Given the description of an element on the screen output the (x, y) to click on. 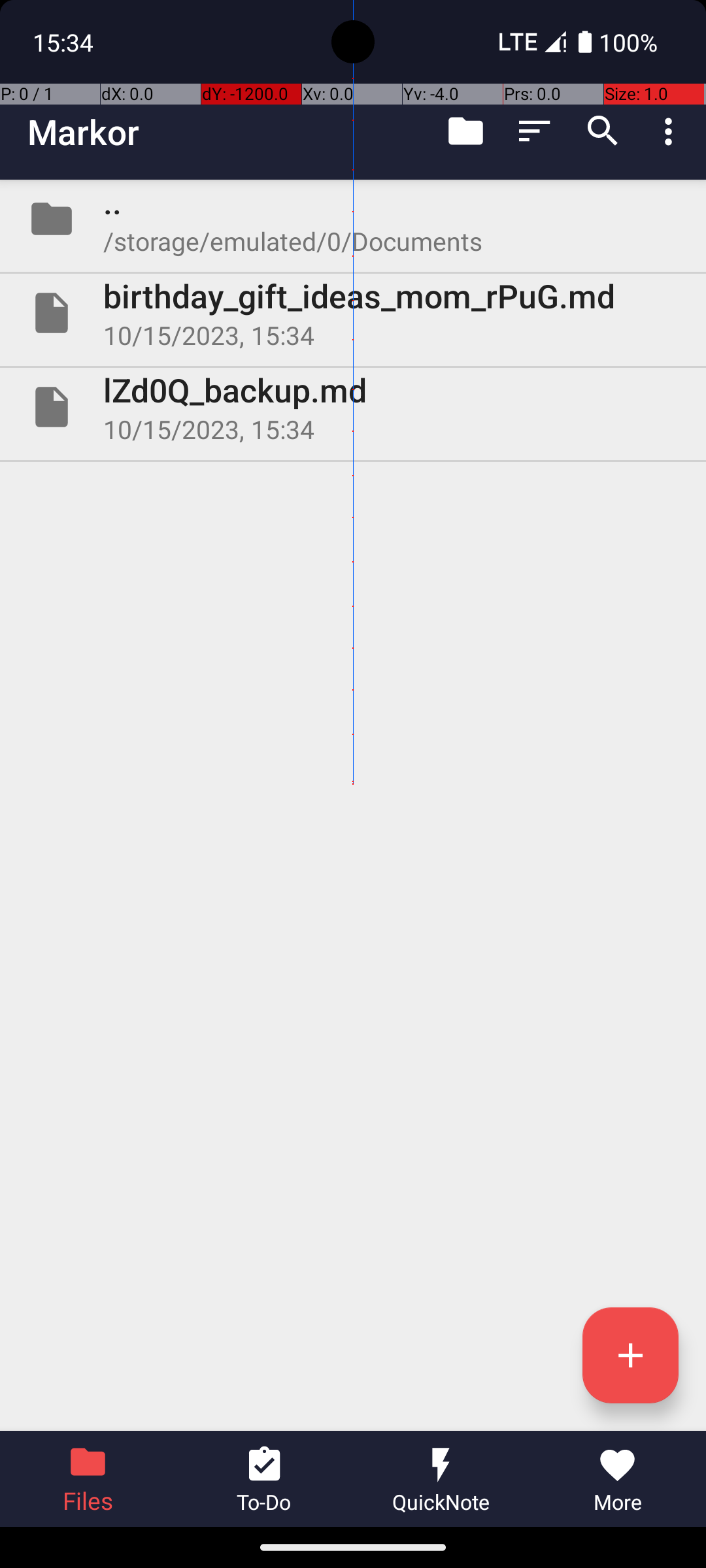
File birthday_gift_ideas_mom_rPuG.md  Element type: android.widget.LinearLayout (353, 312)
File lZd0Q_backup.md  Element type: android.widget.LinearLayout (353, 406)
